Given the description of an element on the screen output the (x, y) to click on. 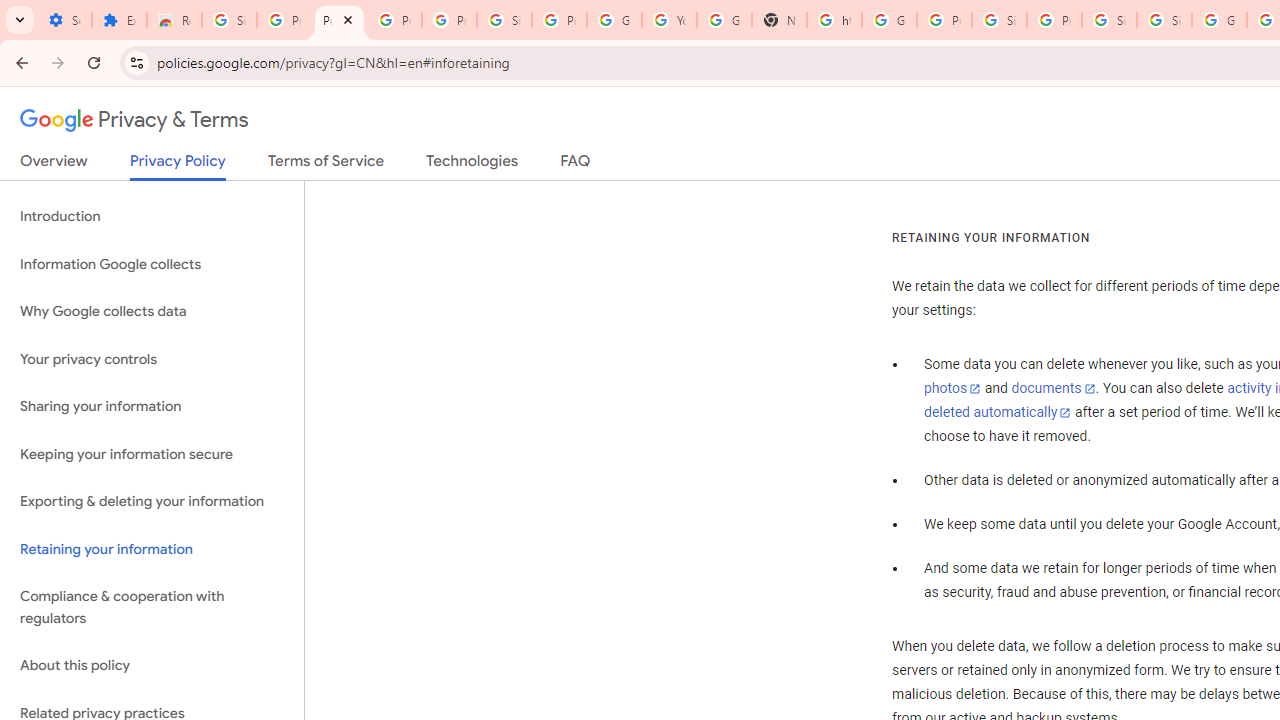
Retaining your information (152, 548)
Exporting & deleting your information (152, 502)
Why Google collects data (152, 312)
Introduction (152, 216)
Extensions (119, 20)
Keeping your information secure (152, 453)
Reviews: Helix Fruit Jump Arcade Game (174, 20)
YouTube (669, 20)
Your privacy controls (152, 358)
